Given the description of an element on the screen output the (x, y) to click on. 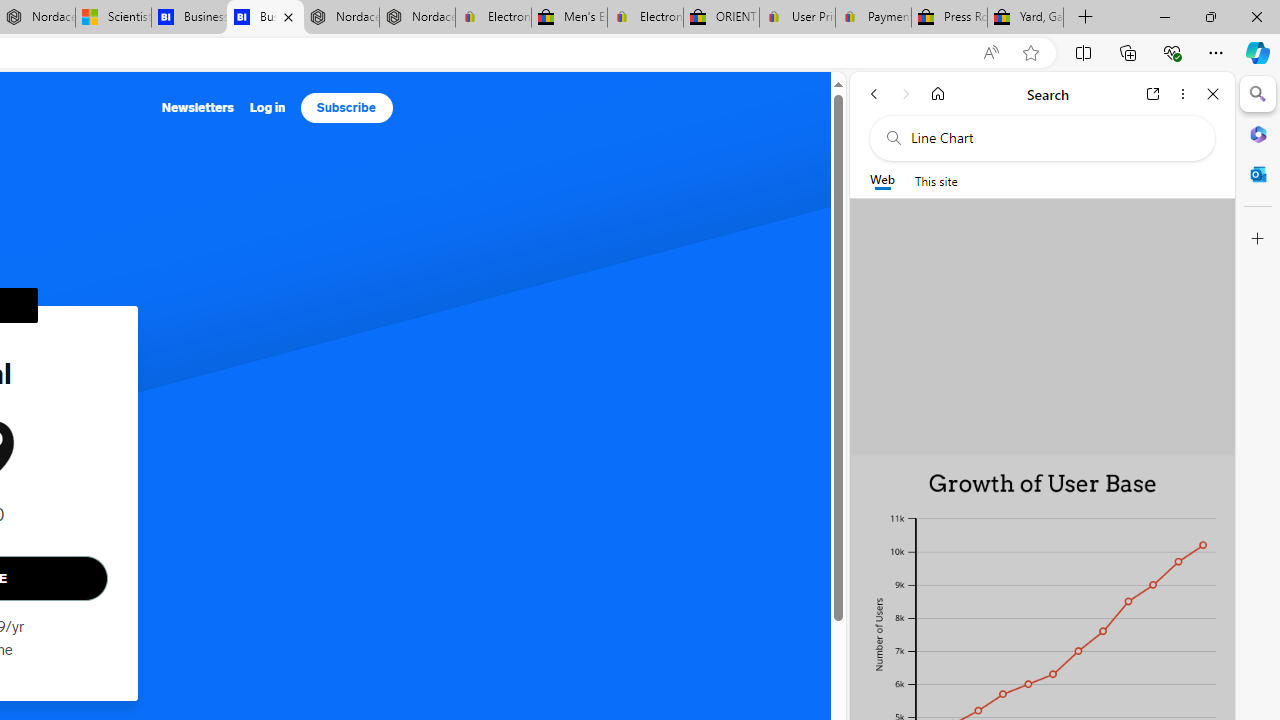
Log in (267, 107)
